Given the description of an element on the screen output the (x, y) to click on. 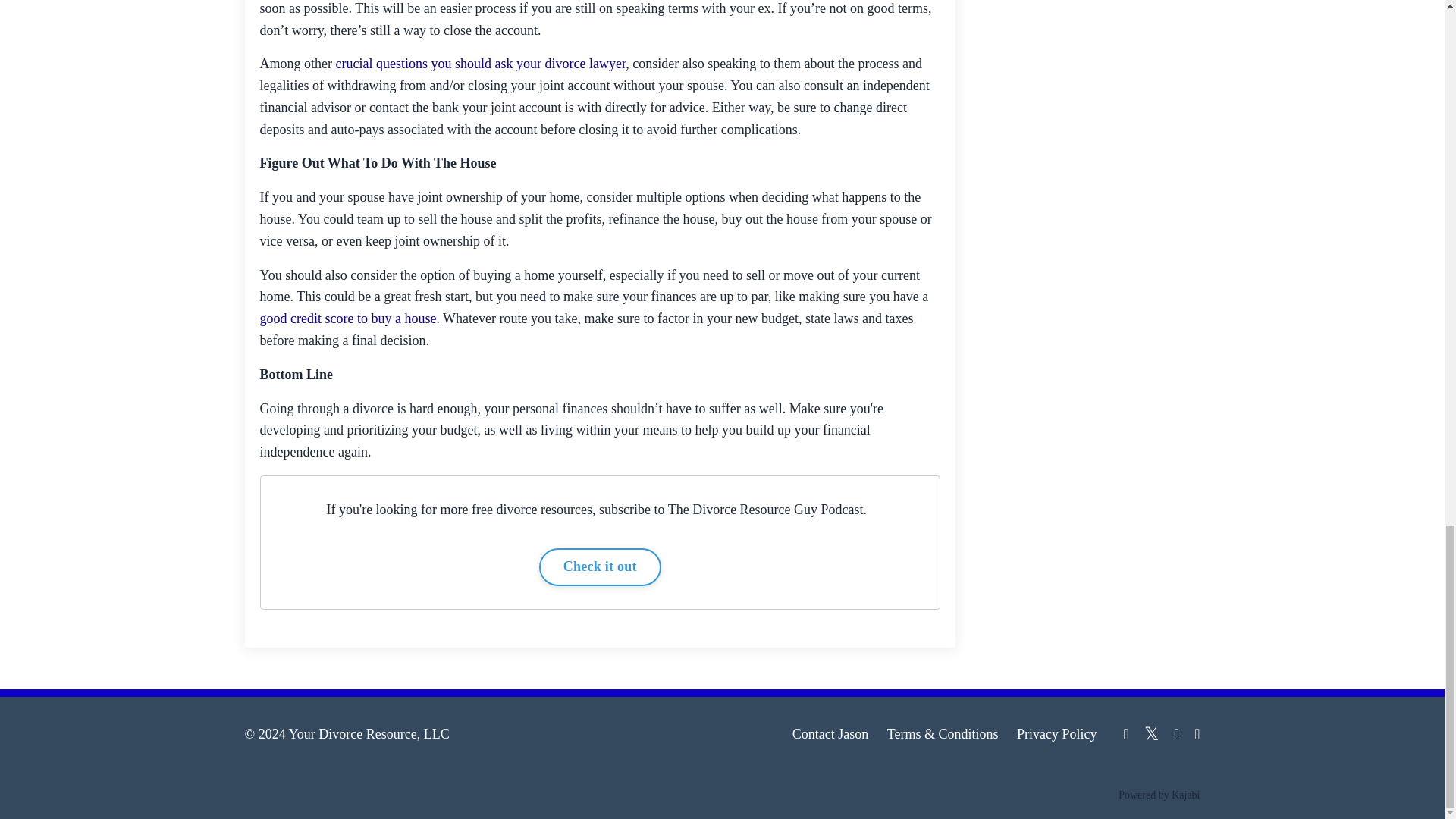
crucial questions you should ask your divorce lawyer (480, 63)
Check it out (599, 566)
Contact Jason (830, 734)
Powered by Kajabi (1158, 794)
Privacy Policy (1056, 734)
good credit score to buy a house (347, 318)
